Given the description of an element on the screen output the (x, y) to click on. 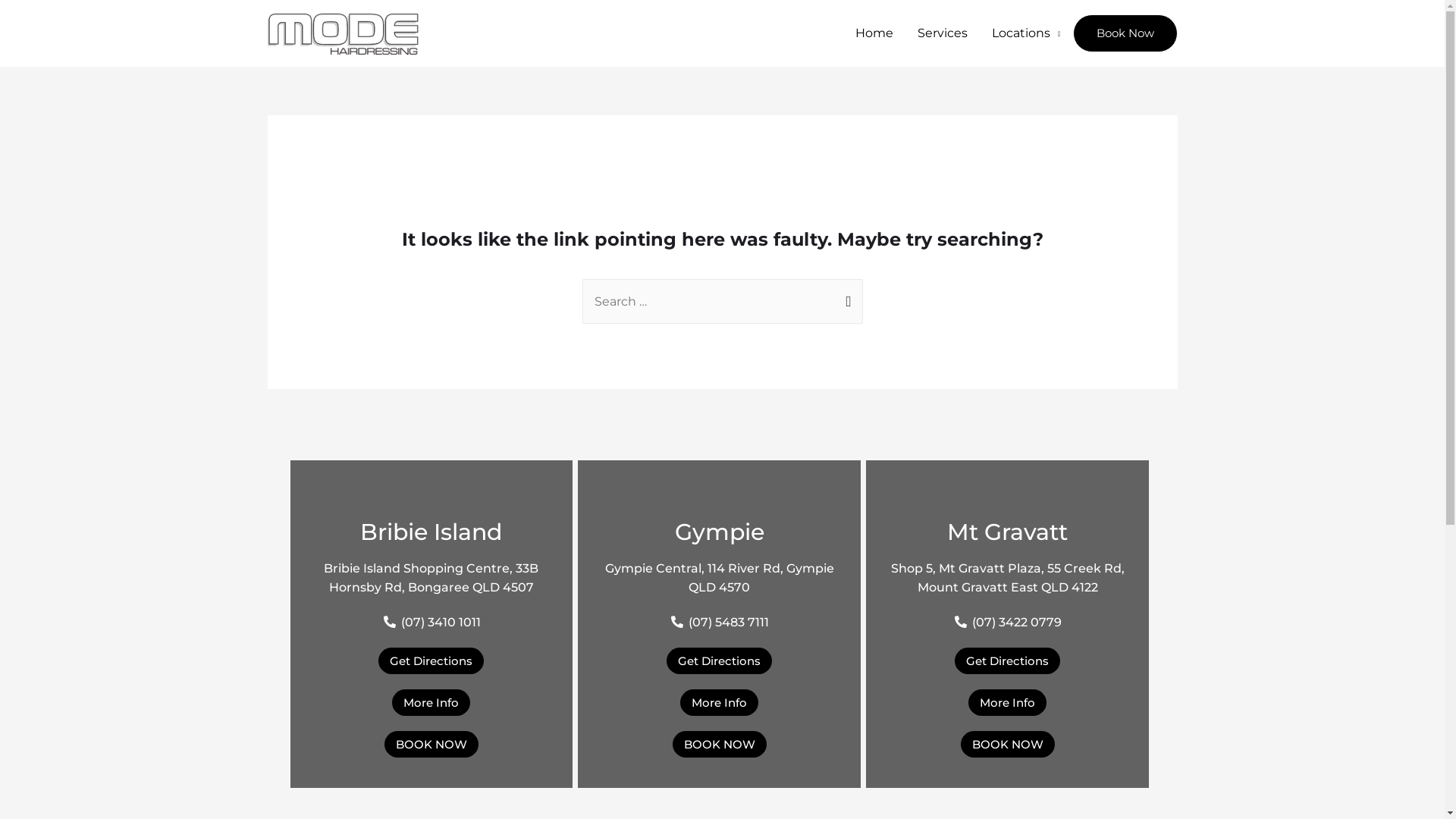
Mt Gravatt Element type: text (1007, 531)
Locations Element type: text (1026, 33)
BOOK NOW Element type: text (1007, 744)
Get Directions Element type: text (718, 660)
BOOK NOW Element type: text (719, 744)
(07) 5483 7111 Element type: text (719, 622)
Get Directions Element type: text (430, 660)
More Info Element type: text (431, 702)
Gympie Element type: text (719, 531)
Home Element type: text (874, 33)
More Info Element type: text (1007, 702)
(07) 3422 0779 Element type: text (1007, 622)
Book Now Element type: text (1124, 33)
Get Directions Element type: text (1007, 660)
Bribie Island Element type: text (431, 531)
Services Element type: text (942, 33)
(07) 3410 1011 Element type: text (430, 622)
More Info Element type: text (719, 702)
Search Element type: text (845, 294)
Gympie Central, 114 River Rd, Gympie QLD 4570 Element type: text (719, 578)
BOOK NOW Element type: text (431, 744)
